Given the description of an element on the screen output the (x, y) to click on. 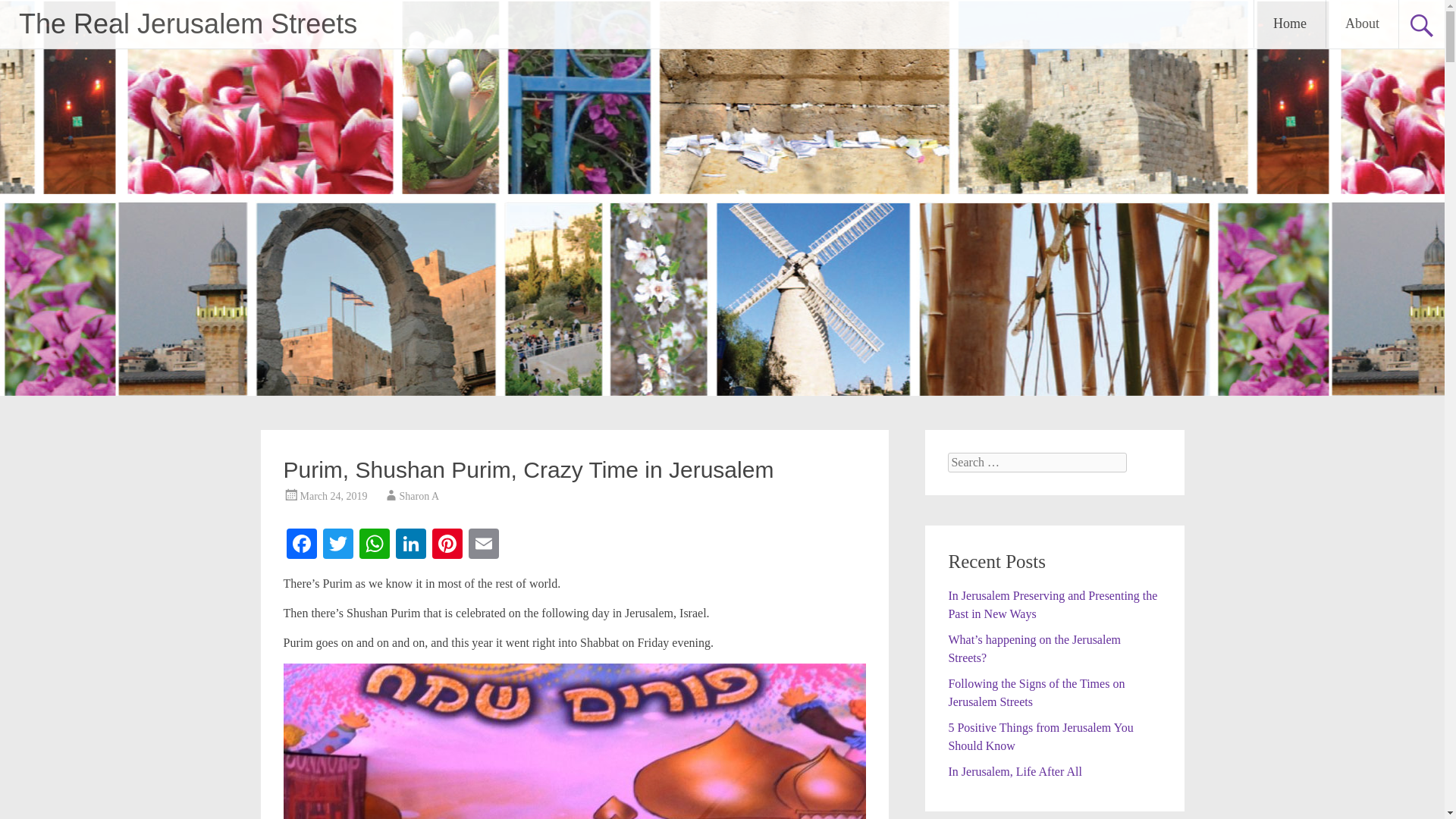
WhatsApp (374, 545)
LinkedIn (411, 545)
Facebook (301, 545)
Home (1288, 23)
Twitter (338, 545)
March 24, 2019 (333, 496)
Search (26, 12)
Pinterest (447, 545)
In Jerusalem Preserving and Presenting the Past in New Ways (1052, 603)
LinkedIn (411, 545)
In Jerusalem, Life After All (1014, 771)
Email (483, 545)
5 Positive Things from Jerusalem You Should Know (1039, 736)
The Real Jerusalem Streets (187, 23)
WhatsApp (374, 545)
